Given the description of an element on the screen output the (x, y) to click on. 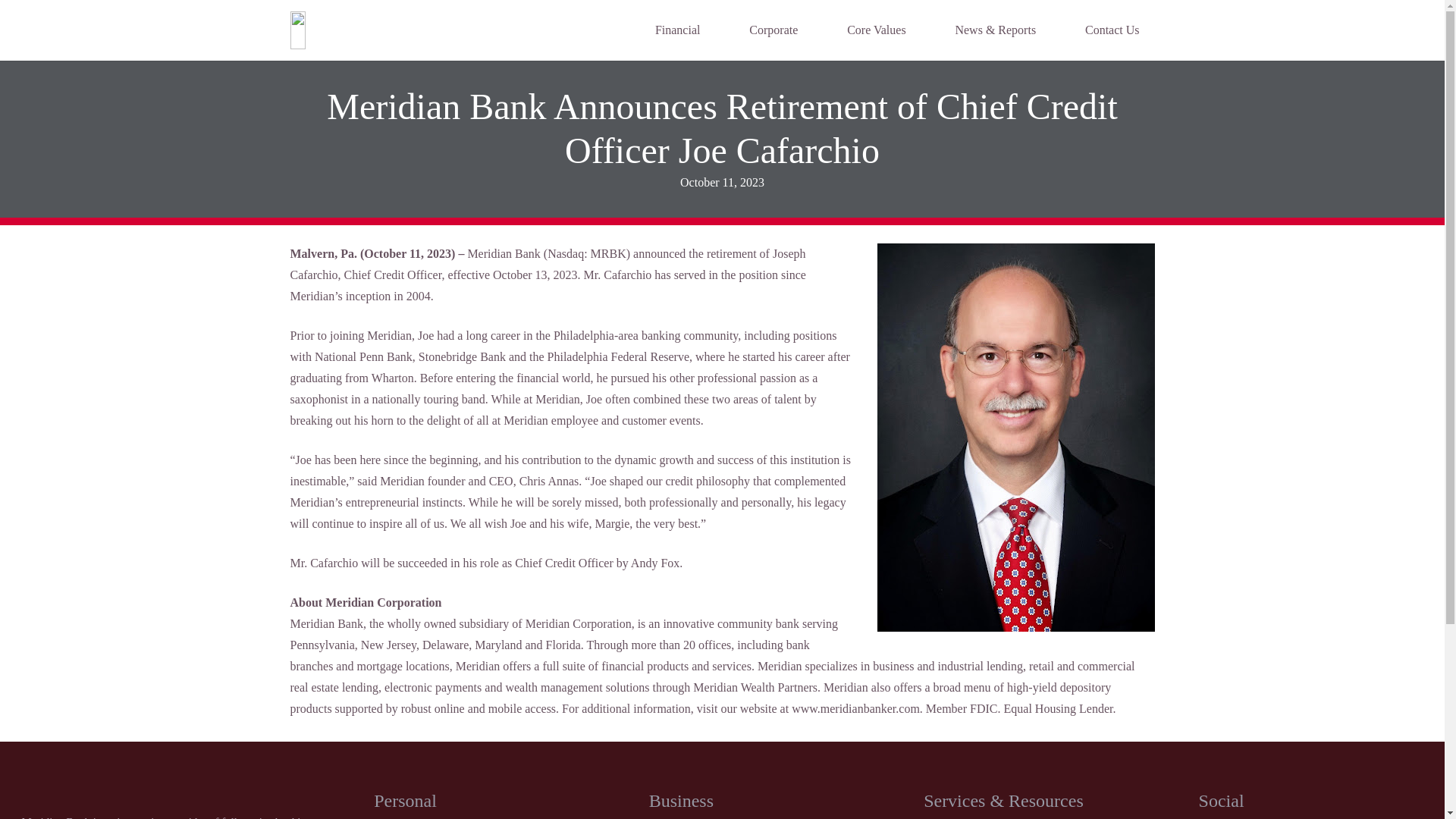
Social (1221, 800)
Contact Us (1112, 30)
Personal (405, 800)
Core Values (875, 30)
Financial (678, 30)
Corporate (772, 30)
Business (681, 800)
